Given the description of an element on the screen output the (x, y) to click on. 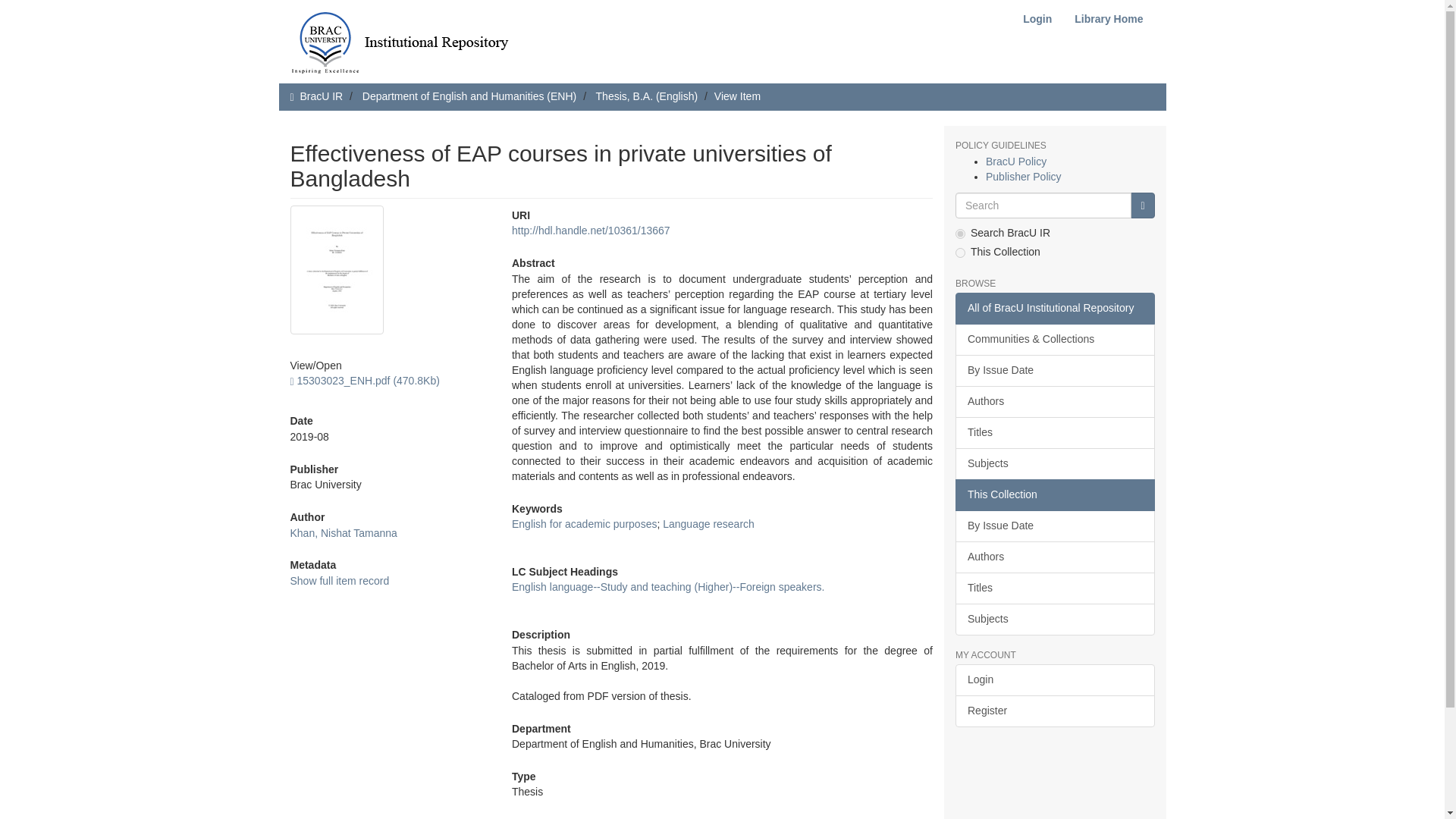
BracU Policy (1015, 161)
All of BracU Institutional Repository (1054, 308)
By Issue Date (1054, 526)
Titles (1054, 432)
Authors (1054, 401)
Subjects (1054, 463)
Publisher Policy (1023, 176)
English for academic purposes (584, 523)
Login (1036, 19)
Language research (708, 523)
This Collection (1054, 495)
By Issue Date (1054, 370)
Library Home (1108, 19)
Show full item record (338, 580)
Go (1142, 205)
